Given the description of an element on the screen output the (x, y) to click on. 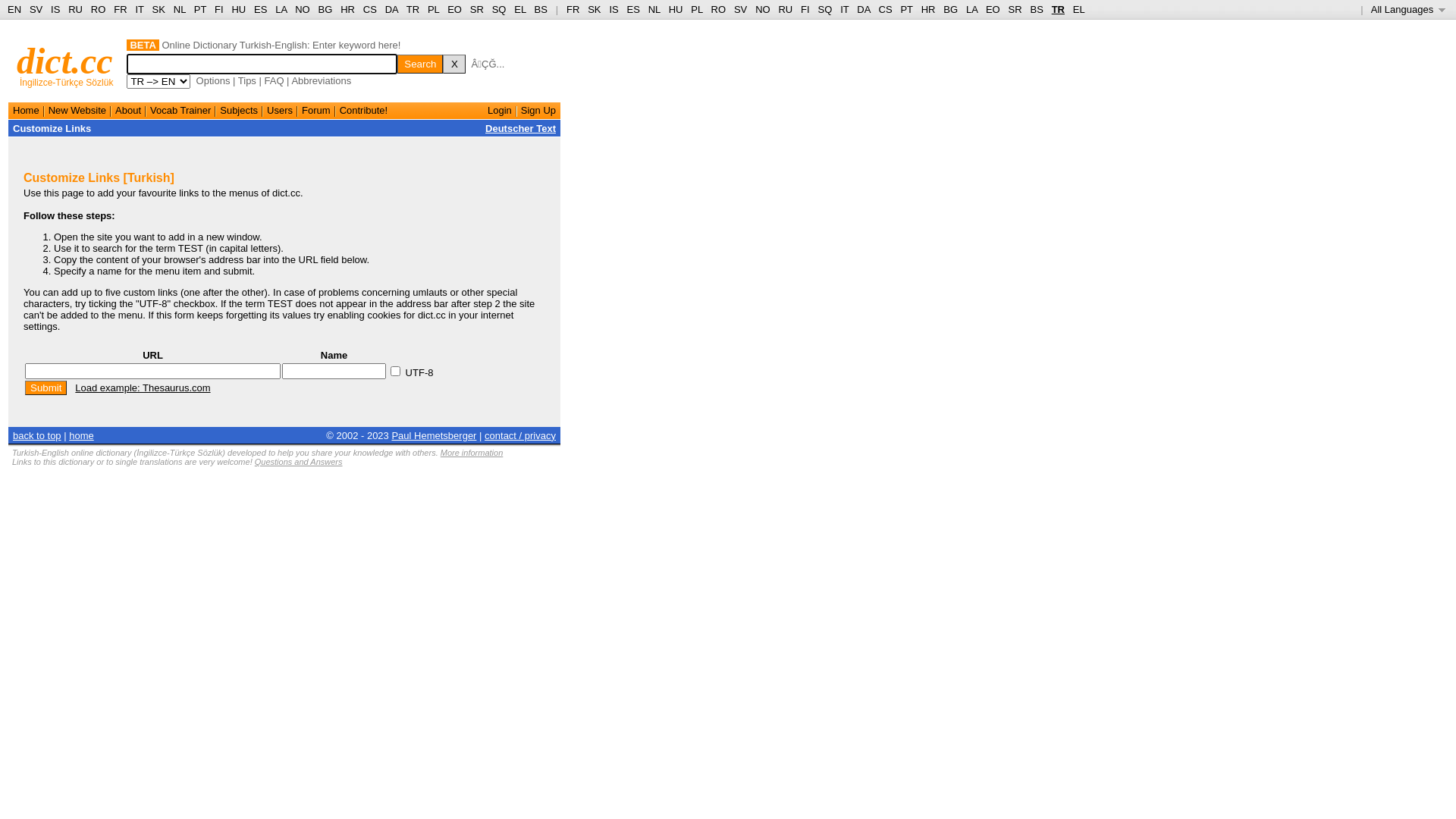
Deutscher Text Element type: text (520, 128)
EL Element type: text (1079, 9)
IT Element type: text (138, 9)
ES Element type: text (633, 9)
EO Element type: text (992, 9)
NL Element type: text (179, 9)
HR Element type: text (347, 9)
FR Element type: text (119, 9)
SR Element type: text (1015, 9)
Vocab Trainer Element type: text (180, 110)
SV Element type: text (35, 9)
PT Element type: text (200, 9)
Questions and Answers Element type: text (298, 461)
Abbreviations Element type: text (321, 80)
SQ Element type: text (499, 9)
SK Element type: text (158, 9)
HR Element type: text (928, 9)
EL Element type: text (519, 9)
HU Element type: text (675, 9)
NO Element type: text (302, 9)
RU Element type: text (75, 9)
NO Element type: text (762, 9)
SQ Element type: text (824, 9)
About Element type: text (128, 110)
More information Element type: text (471, 452)
Options Element type: text (213, 80)
RU Element type: text (785, 9)
Subjects Element type: text (238, 110)
PL Element type: text (433, 9)
RO Element type: text (98, 9)
BS Element type: text (1035, 9)
SR Element type: text (476, 9)
FI Element type: text (218, 9)
CS Element type: text (369, 9)
FR Element type: text (572, 9)
FAQ Element type: text (273, 80)
Search Element type: text (419, 63)
EN Element type: text (14, 9)
RO Element type: text (718, 9)
Load example: Thesaurus.com Element type: text (142, 387)
SK Element type: text (593, 9)
New Website Element type: text (77, 110)
dict.cc Element type: text (64, 60)
Paul Hemetsberger Element type: text (433, 434)
home Element type: text (81, 434)
Home Element type: text (25, 110)
Submit Element type: text (45, 387)
FI Element type: text (804, 9)
PL Element type: text (696, 9)
CS Element type: text (884, 9)
BS Element type: text (540, 9)
Users Element type: text (279, 110)
back to top Element type: text (36, 434)
DA Element type: text (862, 9)
EO Element type: text (454, 9)
contact / privacy Element type: text (519, 434)
Forum Element type: text (315, 110)
HU Element type: text (238, 9)
Login Element type: text (499, 110)
LA Element type: text (971, 9)
All Languages  Element type: text (1408, 9)
LA Element type: text (280, 9)
TR Element type: text (412, 9)
ES Element type: text (260, 9)
X Element type: text (453, 63)
BG Element type: text (325, 9)
NL Element type: text (654, 9)
IS Element type: text (54, 9)
Sign Up Element type: text (537, 110)
Tips Element type: text (247, 80)
Contribute! Element type: text (363, 110)
IS Element type: text (613, 9)
IT Element type: text (844, 9)
TR Element type: text (1057, 9)
SV Element type: text (740, 9)
PT Element type: text (906, 9)
DA Element type: text (391, 9)
BG Element type: text (950, 9)
